Given the description of an element on the screen output the (x, y) to click on. 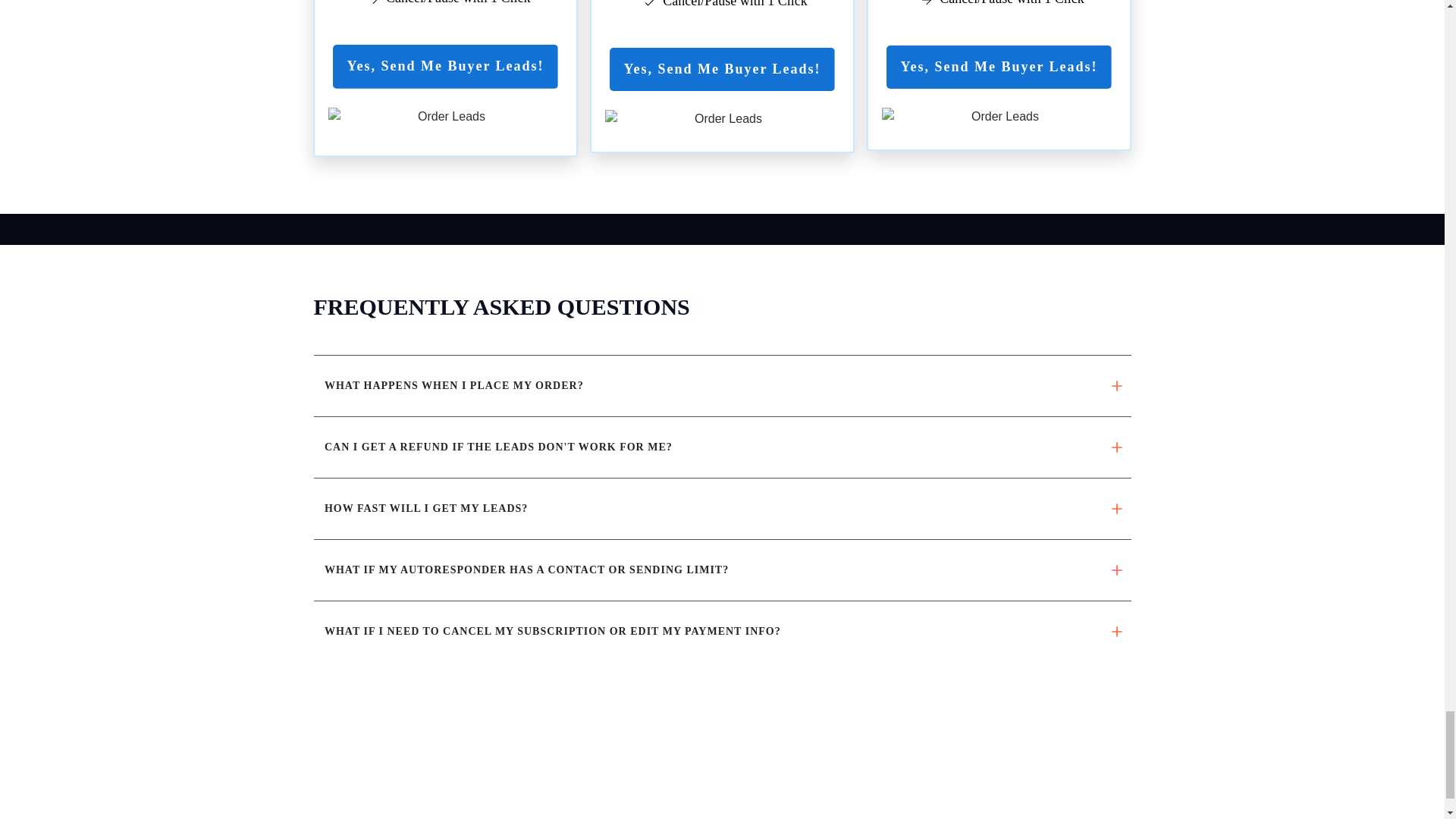
Yes, Send Me Buyer Leads! (998, 67)
Yes, Send Me Buyer Leads! (722, 69)
Yes, Send Me Buyer Leads! (445, 66)
